Given the description of an element on the screen output the (x, y) to click on. 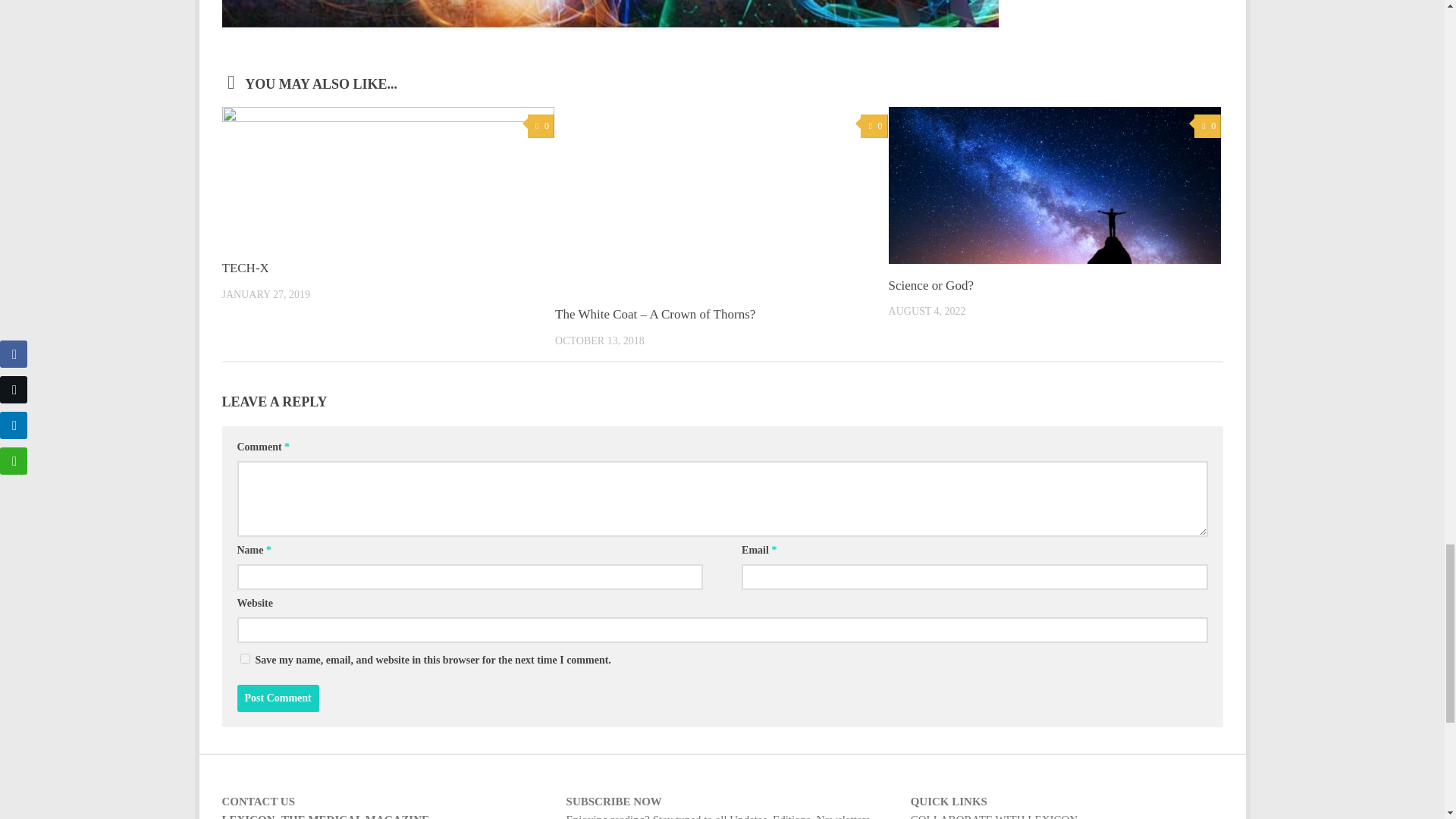
0 (540, 126)
0 (873, 126)
Post Comment (276, 697)
yes (244, 658)
TECH-X (244, 268)
